Given the description of an element on the screen output the (x, y) to click on. 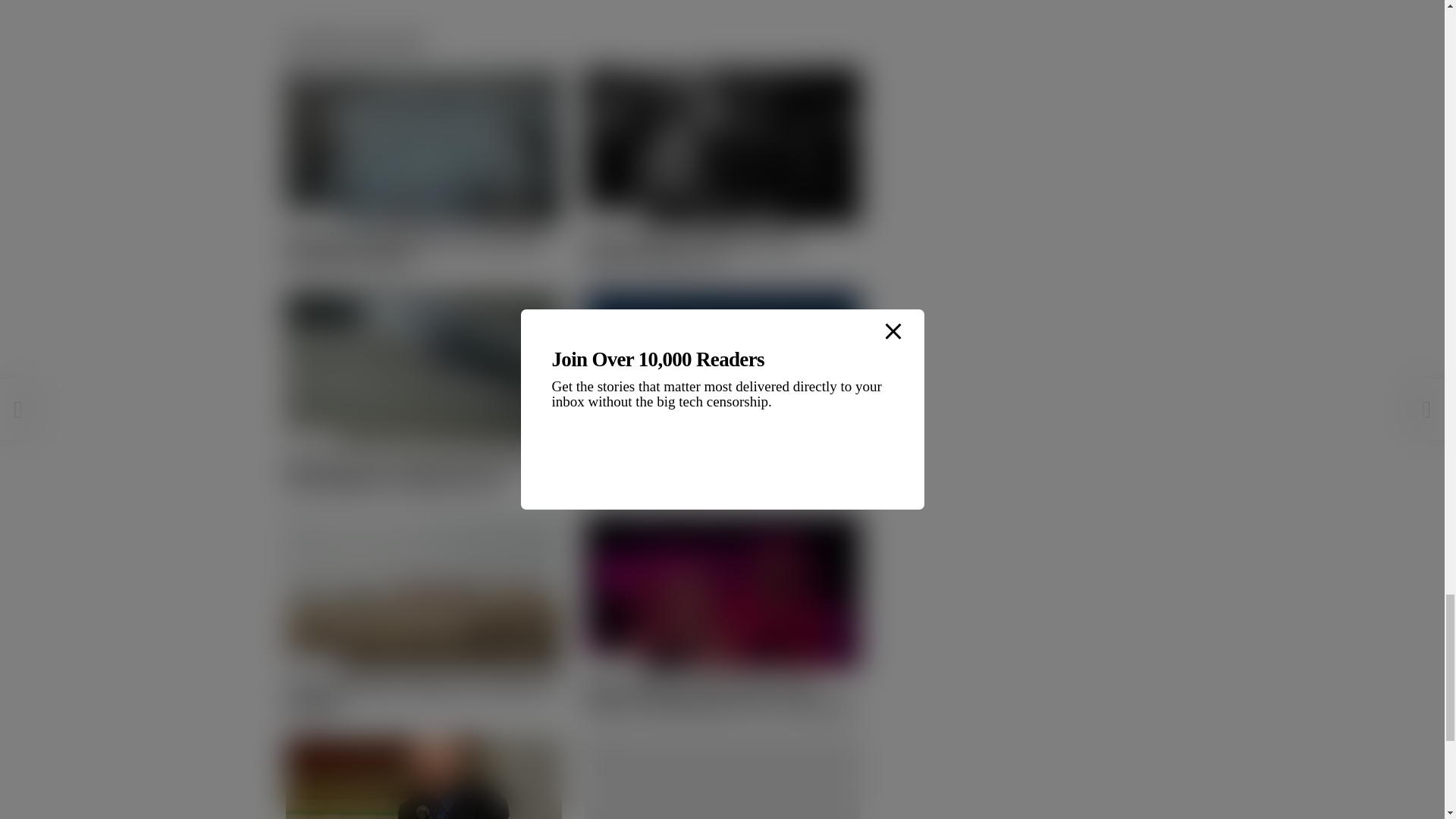
Boening Whistleblower Found Dead In South Carolina (414, 250)
